Given the description of an element on the screen output the (x, y) to click on. 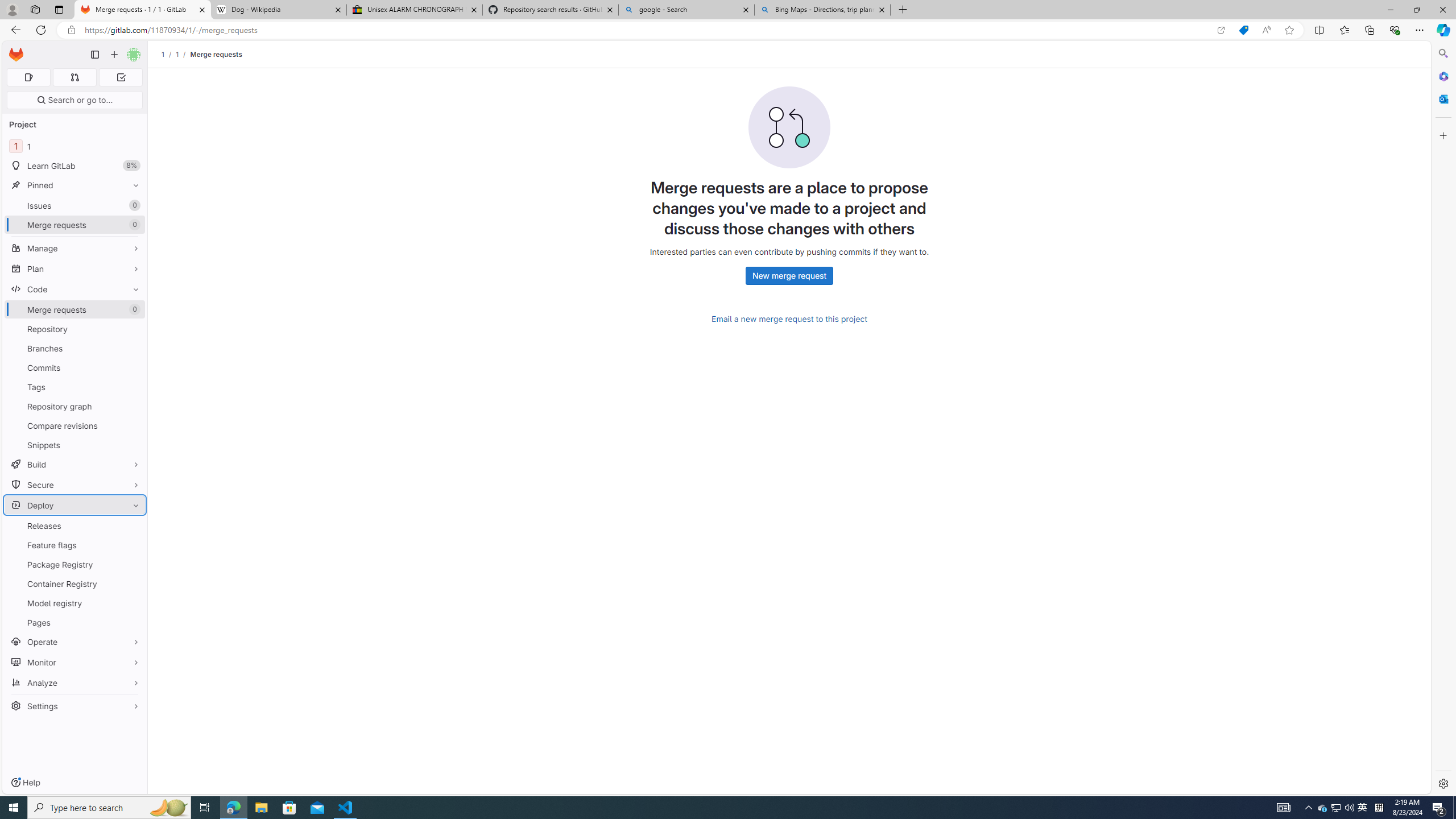
Secure (74, 484)
11 (74, 145)
Compare revisions (74, 425)
Plan (74, 268)
Pin Package Registry (132, 564)
Homepage (16, 54)
Pin Releases (132, 525)
Snippets (74, 444)
Unpin Issues (132, 205)
Tags (74, 386)
Pin Compare revisions (132, 425)
